Given the description of an element on the screen output the (x, y) to click on. 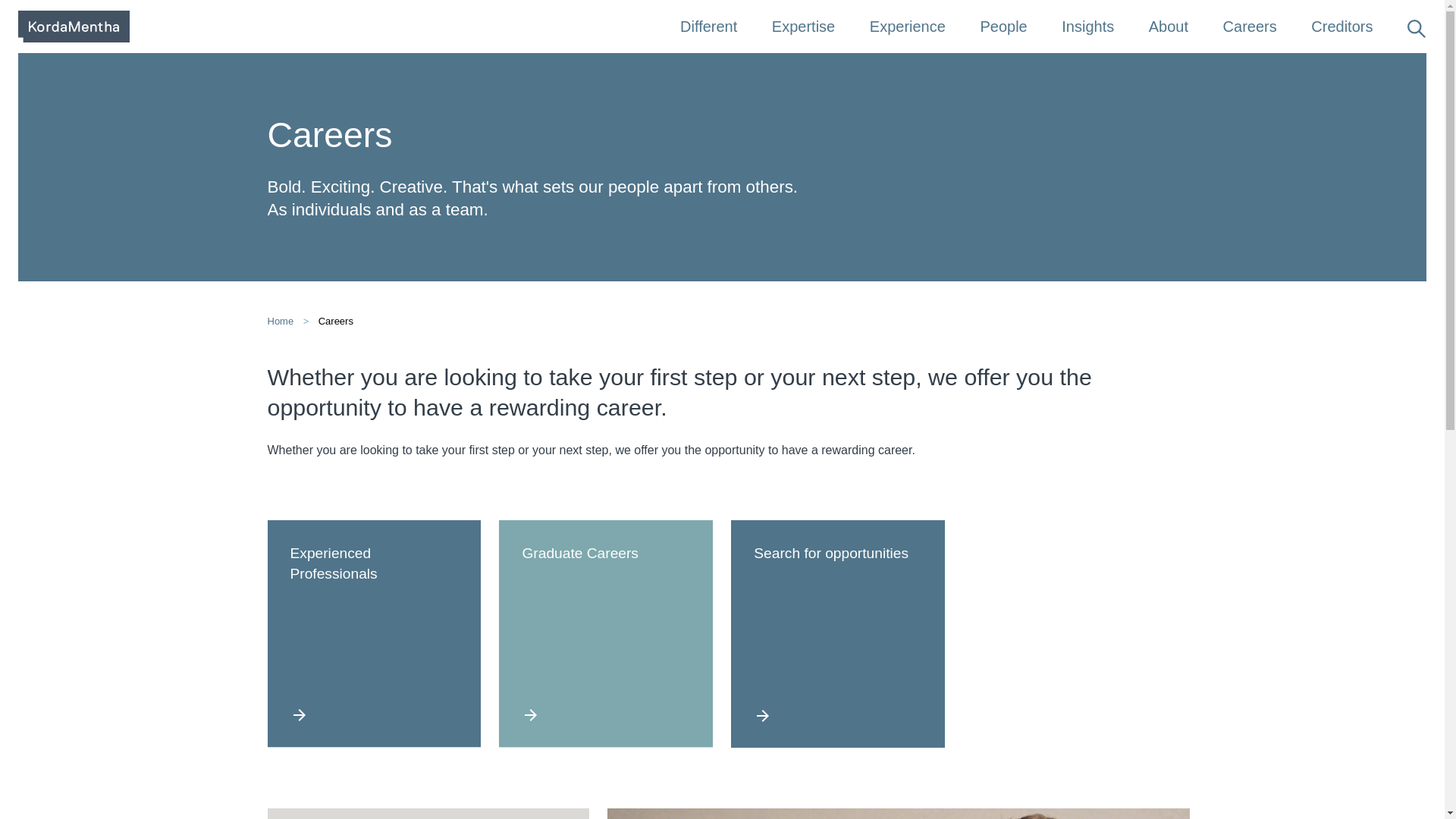
Different (708, 26)
Experience (907, 26)
Creditors (1341, 26)
Careers (1250, 26)
People (1002, 26)
Insights (1087, 26)
KordaMentha (73, 26)
